Given the description of an element on the screen output the (x, y) to click on. 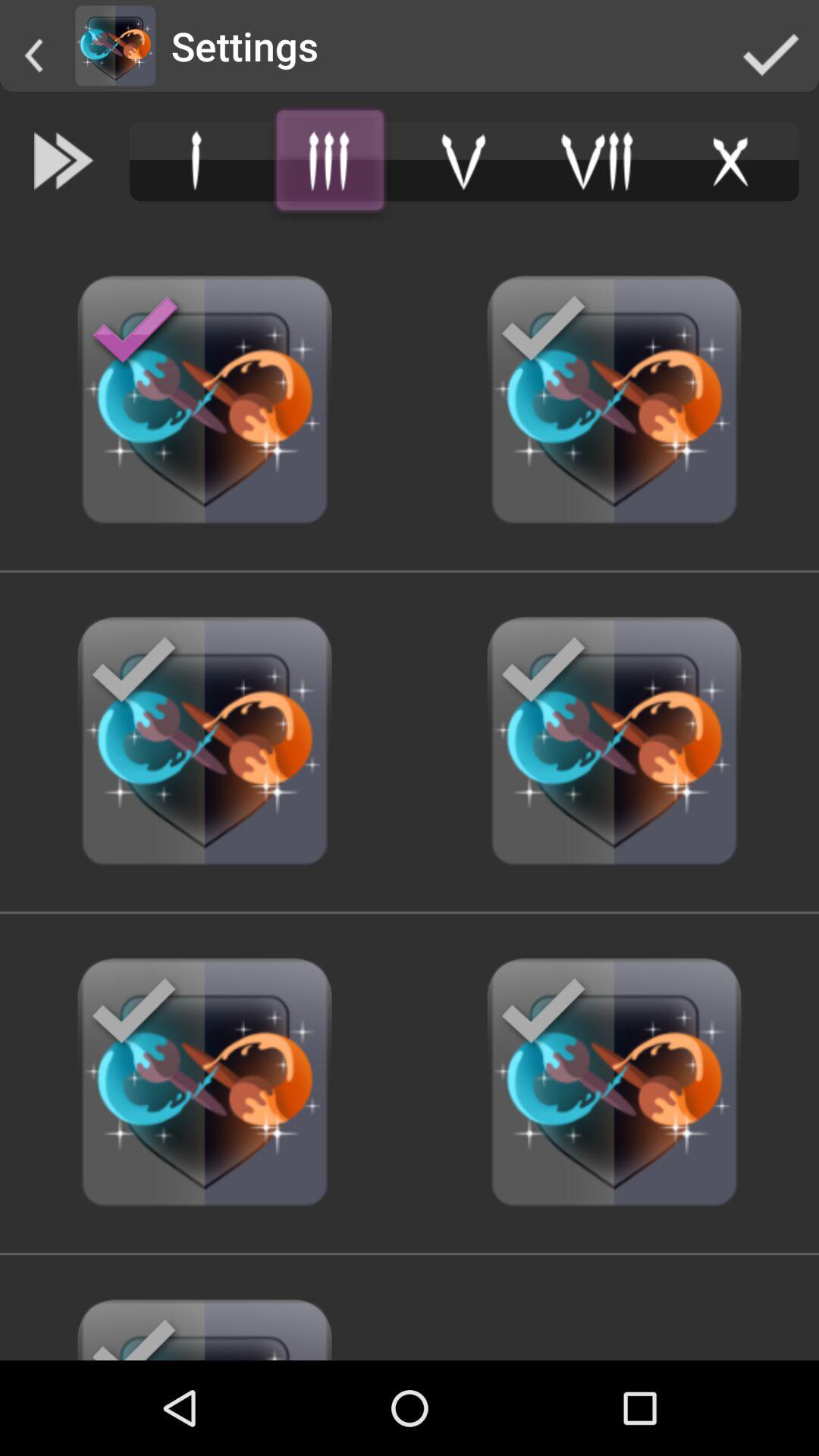
select menu option (196, 161)
